Given the description of an element on the screen output the (x, y) to click on. 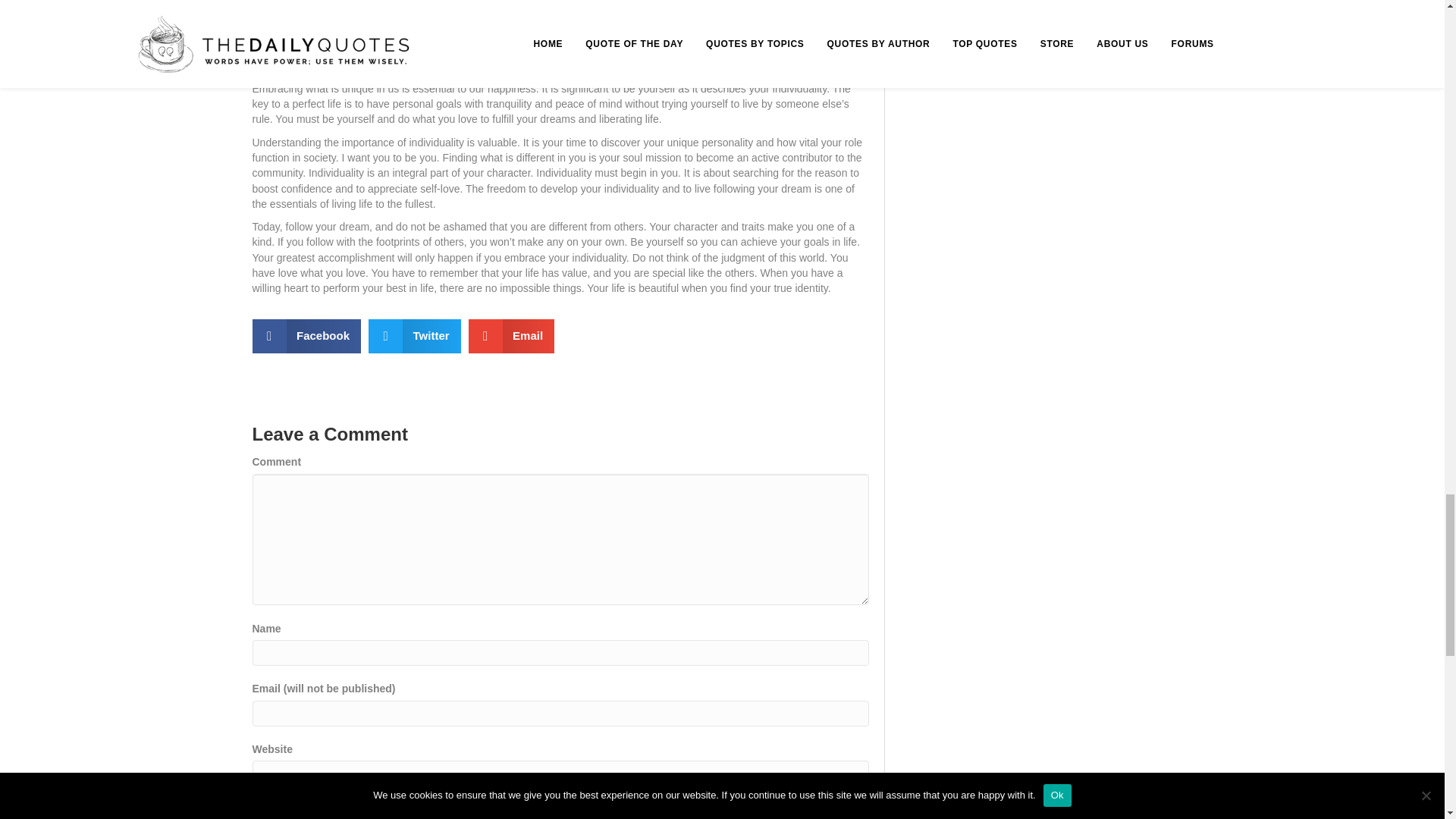
Twitter (414, 335)
Facebook (306, 335)
Email (511, 335)
Submit Comment (330, 810)
Submit Comment (330, 810)
